Given the description of an element on the screen output the (x, y) to click on. 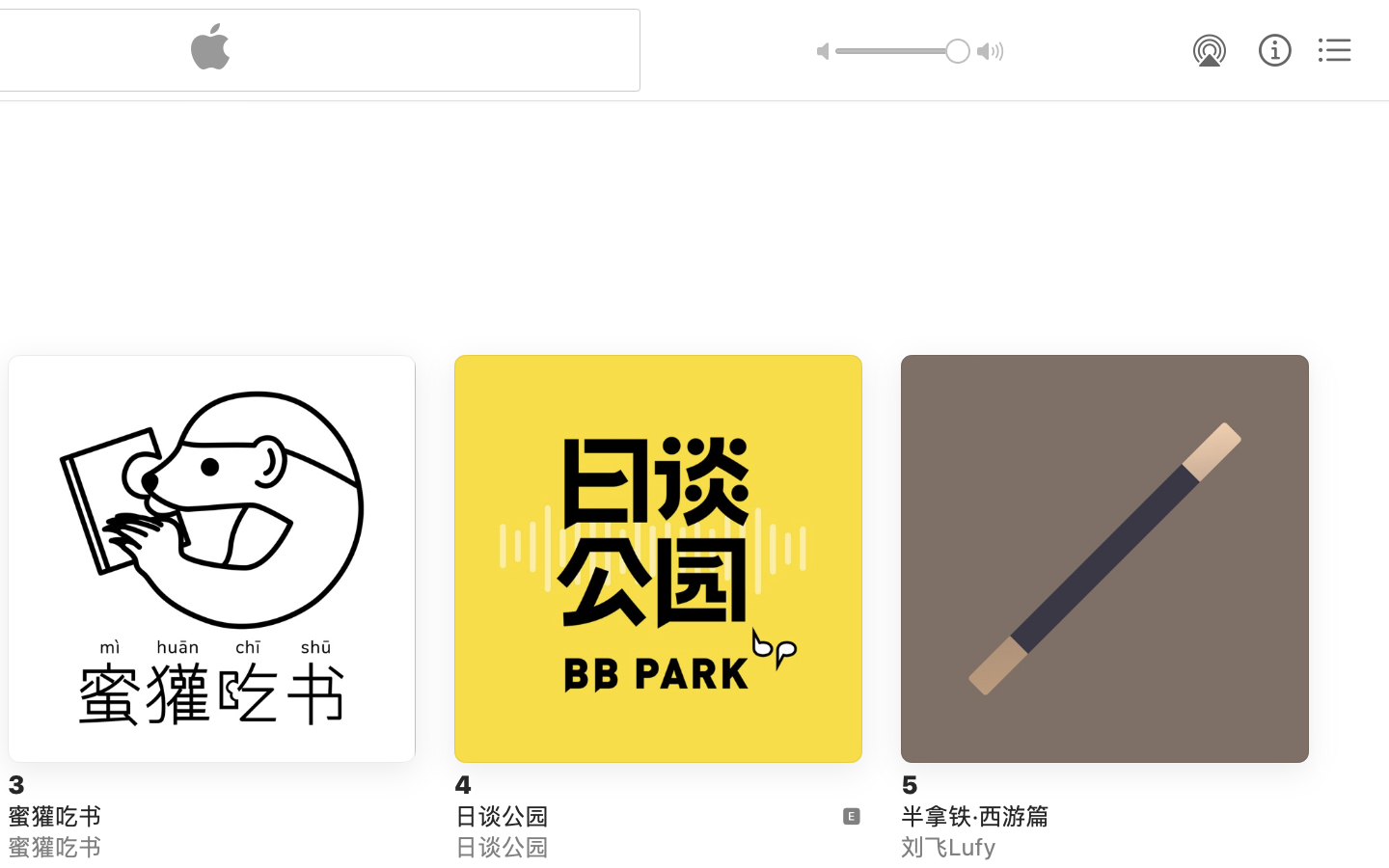
1.0 Element type: AXSlider (902, 50)
